Given the description of an element on the screen output the (x, y) to click on. 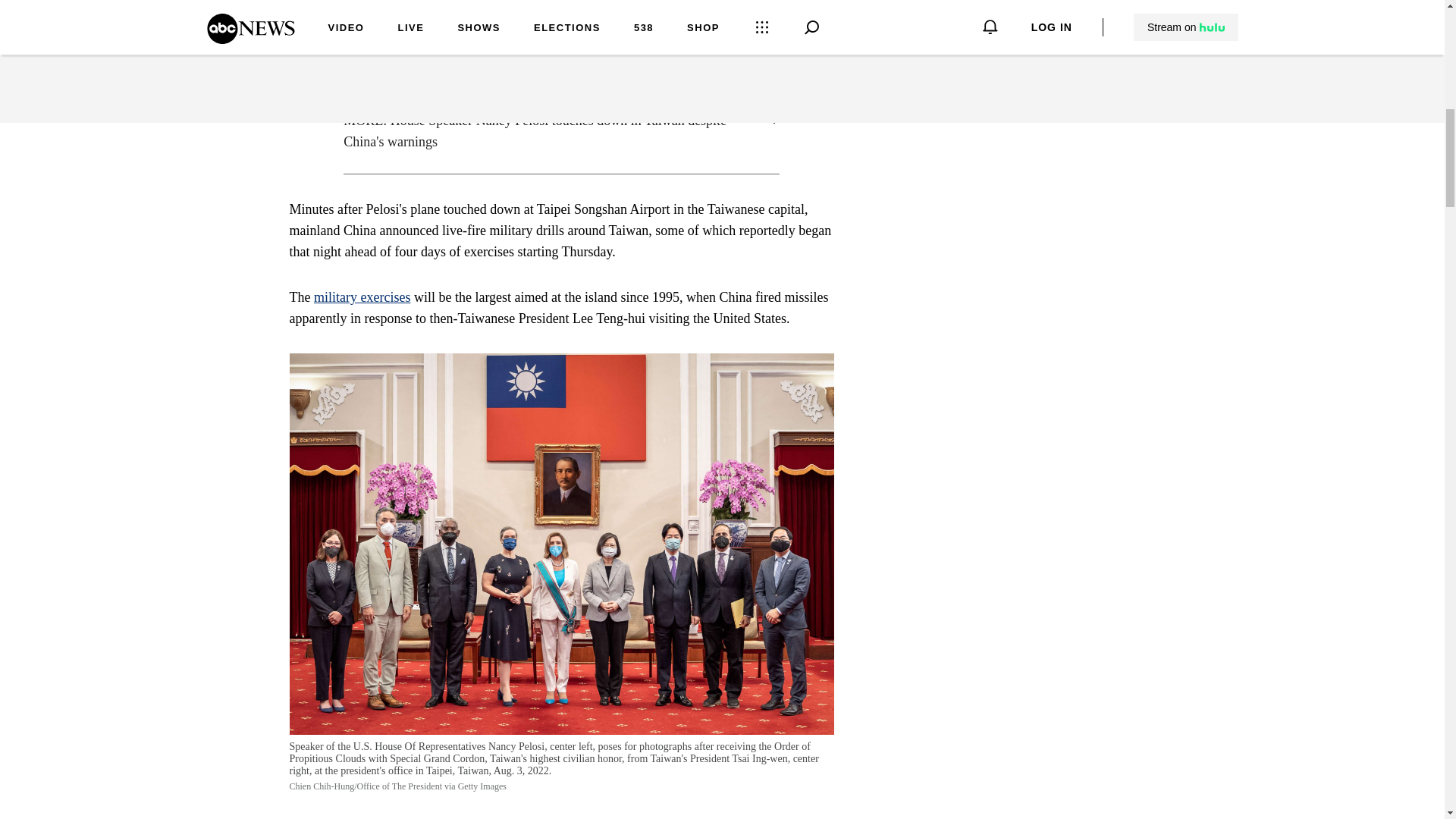
military exercises (362, 296)
